Given the description of an element on the screen output the (x, y) to click on. 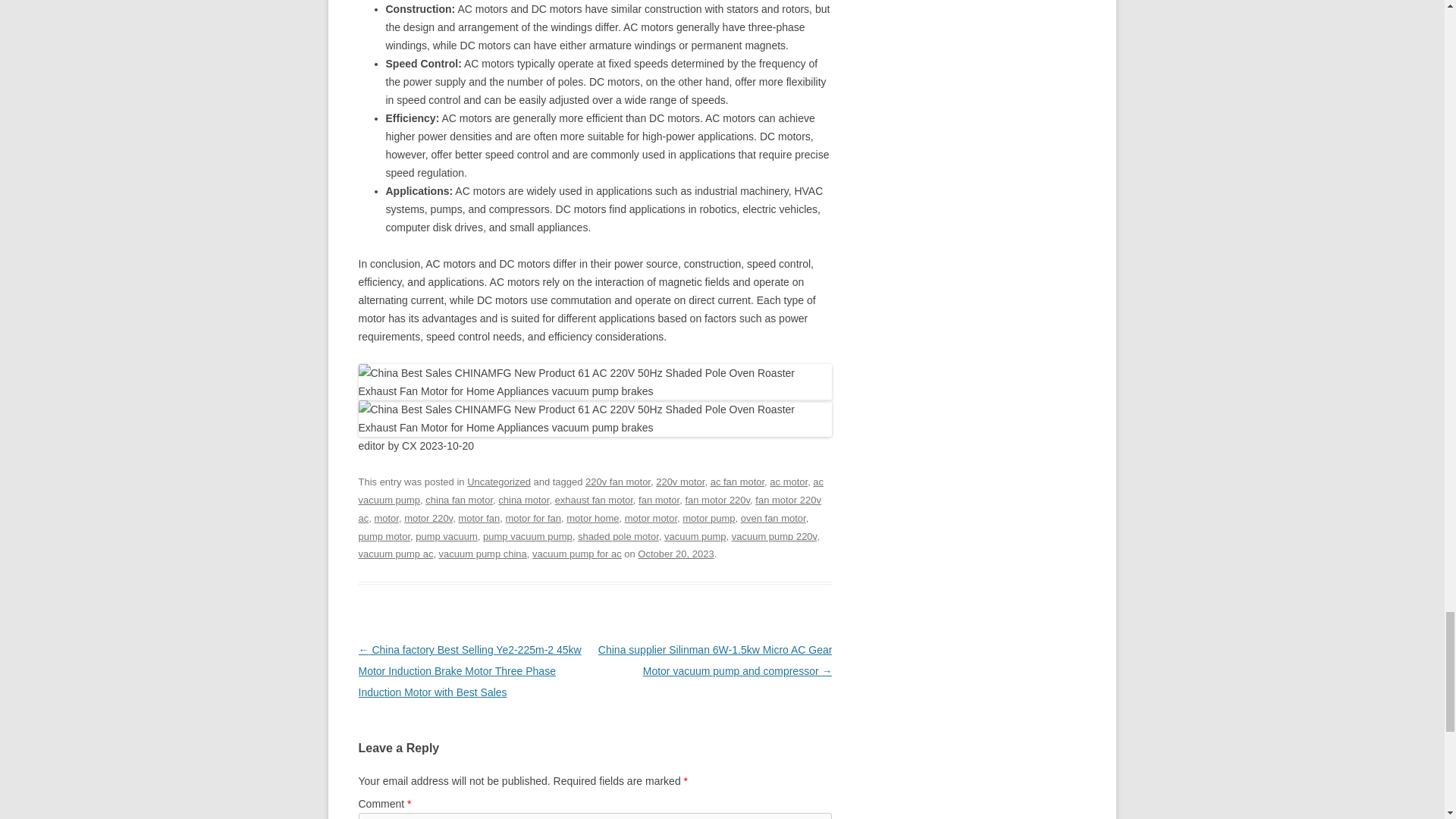
oven fan motor (773, 518)
china fan motor (459, 500)
motor pump (708, 518)
motor for fan (532, 518)
vacuum pump ac (395, 553)
vacuum pump (694, 536)
fan motor (659, 500)
October 20, 2023 (675, 553)
vacuum pump for ac (576, 553)
pump motor (384, 536)
